Given the description of an element on the screen output the (x, y) to click on. 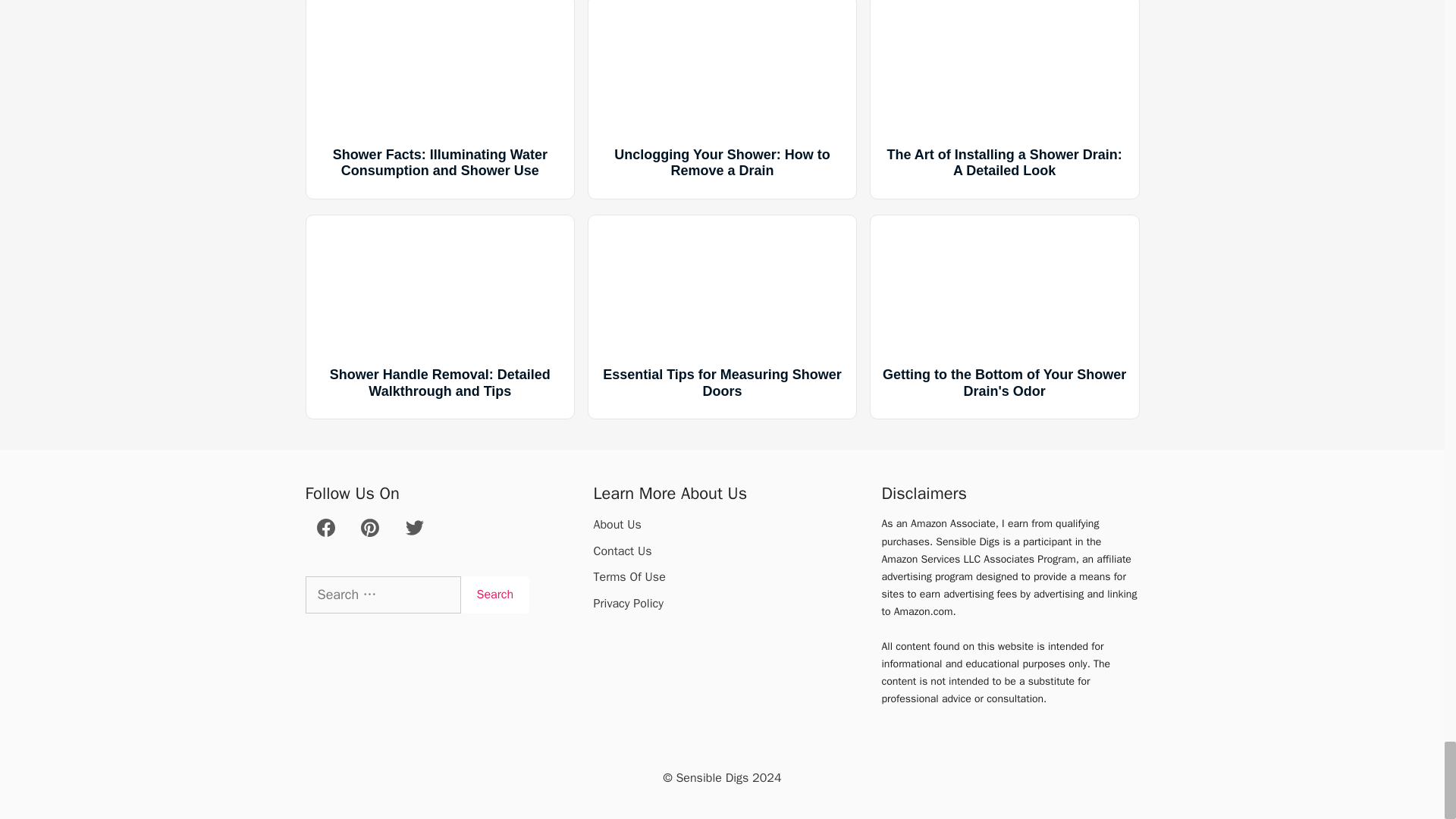
Follow on Facebook (325, 532)
Search (495, 594)
Search (495, 594)
